Given the description of an element on the screen output the (x, y) to click on. 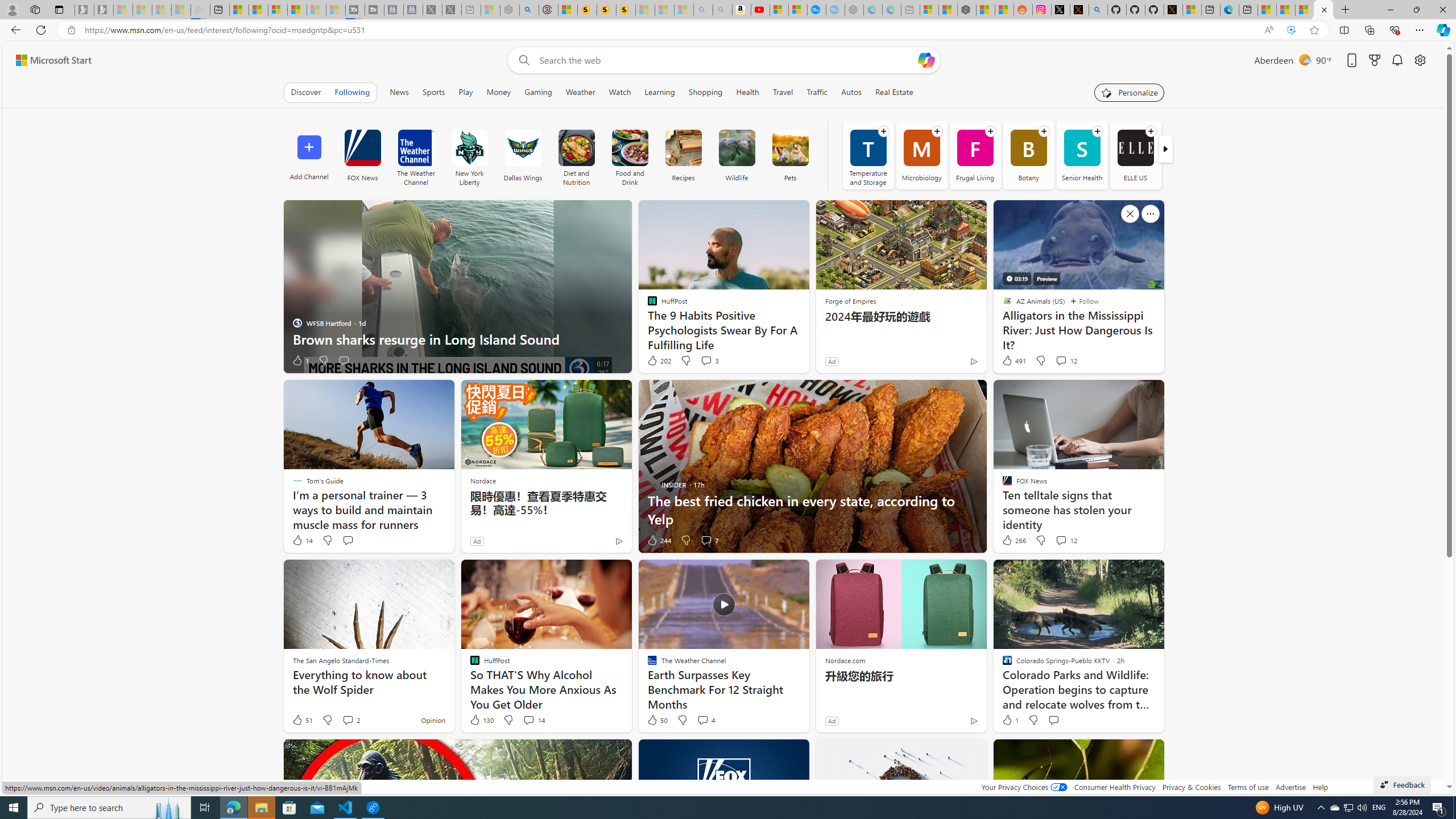
New York Liberty (469, 147)
Botany (1028, 155)
Forge of Empires (850, 300)
Wildlife - MSN - Sleeping (490, 9)
Dallas Wings (522, 147)
Help (1320, 786)
View comments 14 Comment (528, 719)
Personalize your feed" (1129, 92)
FOX News (362, 155)
